Given the description of an element on the screen output the (x, y) to click on. 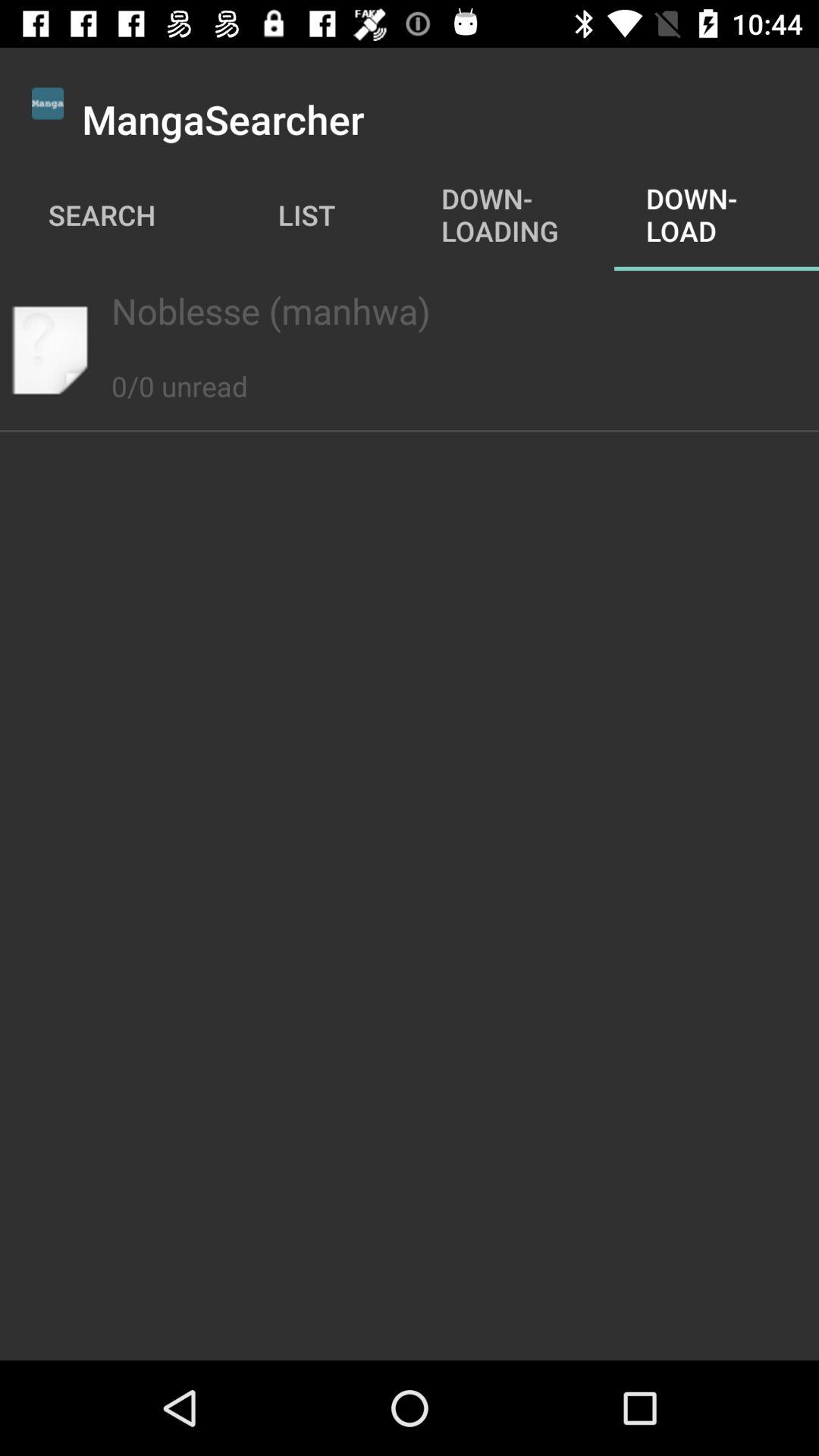
choose the noblesse (manhwa) app (409, 310)
